Given the description of an element on the screen output the (x, y) to click on. 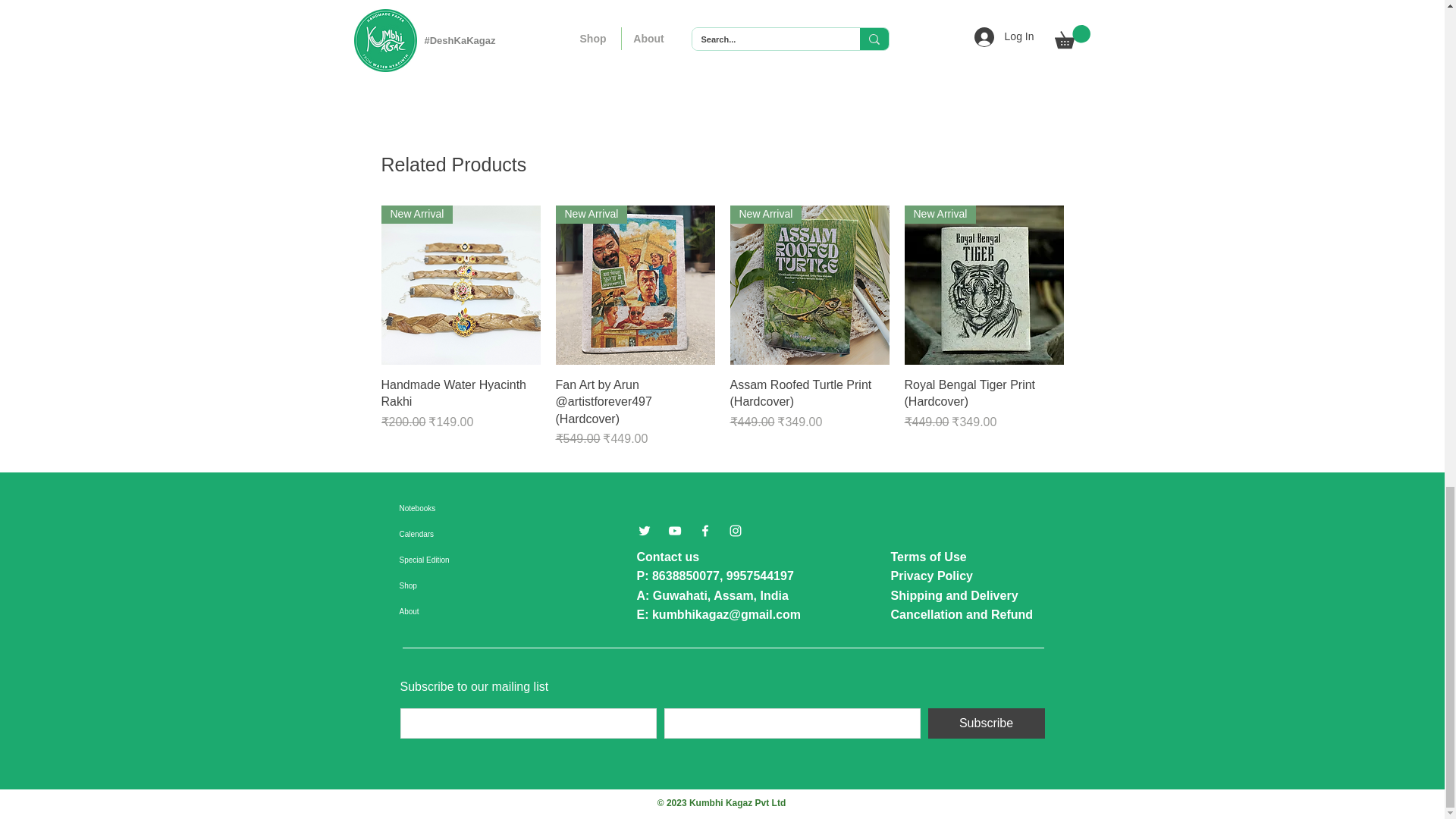
New Arrival (983, 284)
New Arrival (808, 284)
New Arrival (634, 284)
New Arrival (460, 284)
